Given the description of an element on the screen output the (x, y) to click on. 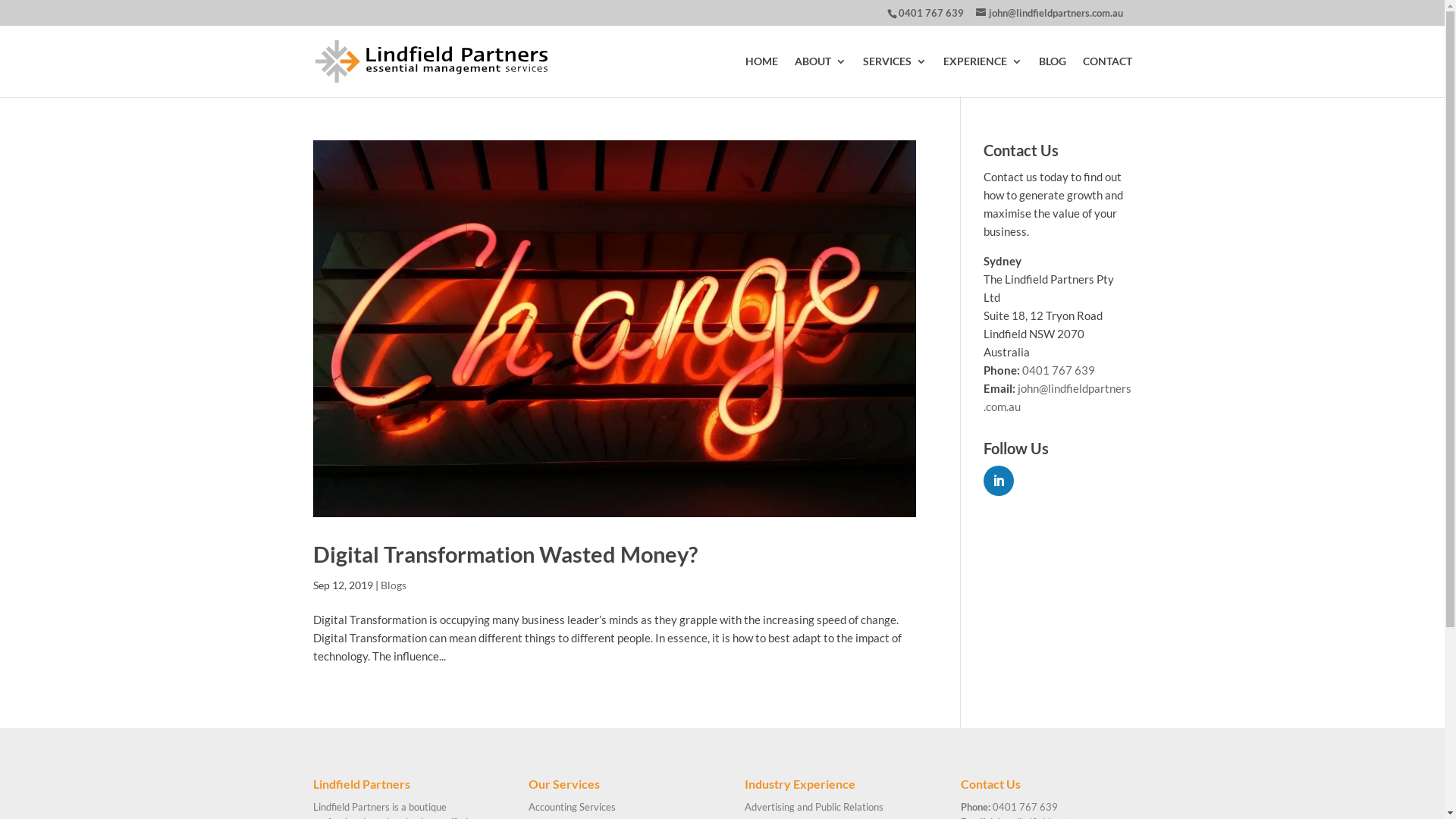
Digital Transformation Wasted Money? Element type: text (504, 553)
HOME Element type: text (760, 76)
0401 767 639 Element type: text (1058, 369)
john@lindfieldpartners.com.au Element type: text (1057, 397)
0401 767 639 Element type: text (1024, 806)
EXPERIENCE Element type: text (982, 76)
CONTACT Element type: text (1107, 76)
ABOUT Element type: text (820, 76)
Blogs Element type: text (393, 584)
Advertising and Public Relations Element type: text (813, 806)
BLOG Element type: text (1052, 76)
0401 767 639 Element type: text (930, 12)
SERVICES Element type: text (894, 76)
Accounting Services Element type: text (571, 806)
john@lindfieldpartners.com.au Element type: text (1048, 12)
